Given the description of an element on the screen output the (x, y) to click on. 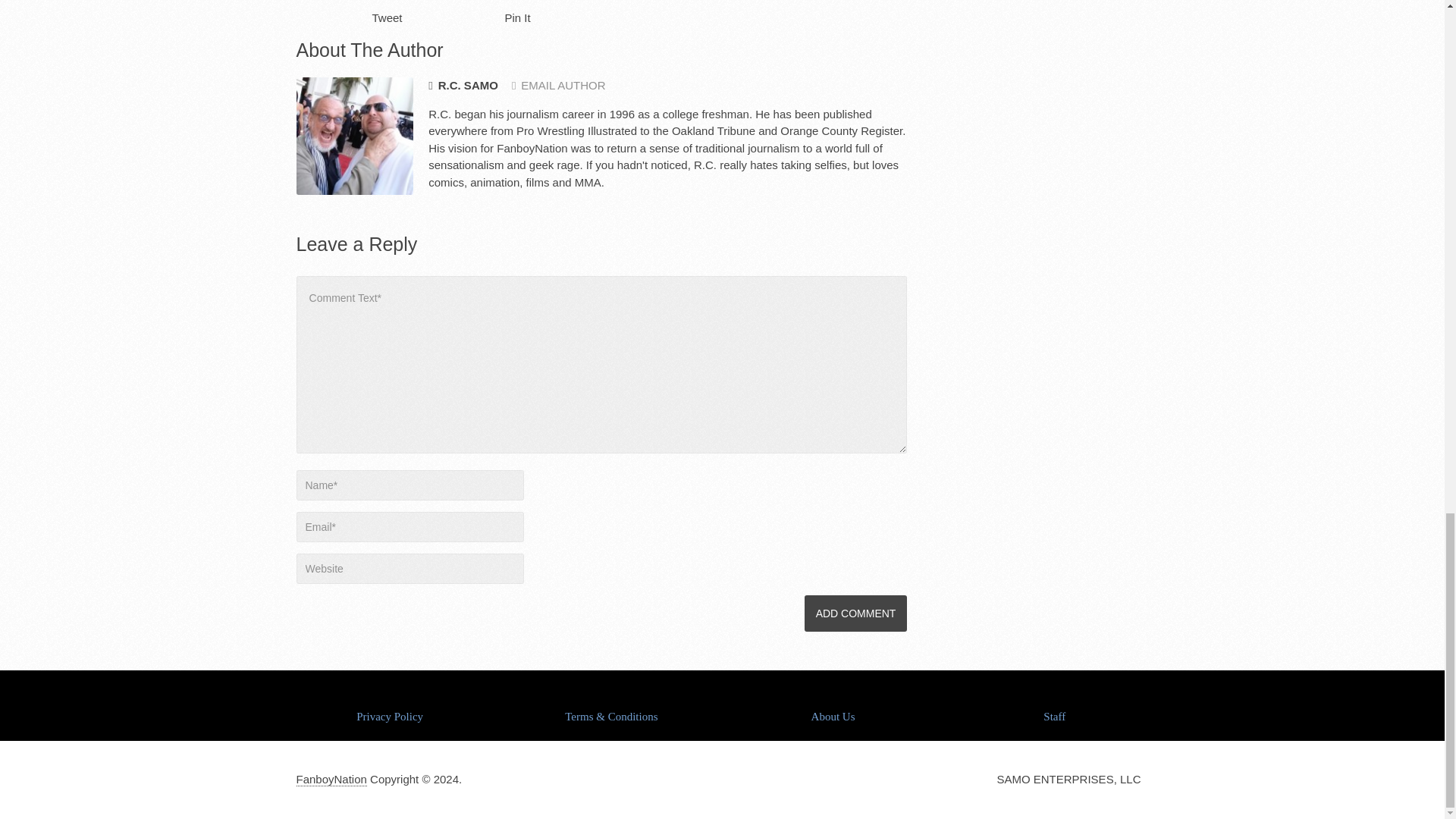
Tweet (386, 17)
R.C. SAMO (462, 85)
Add Comment (856, 613)
EMAIL AUTHOR (558, 84)
Add Comment (856, 613)
Pin It (518, 17)
